Given the description of an element on the screen output the (x, y) to click on. 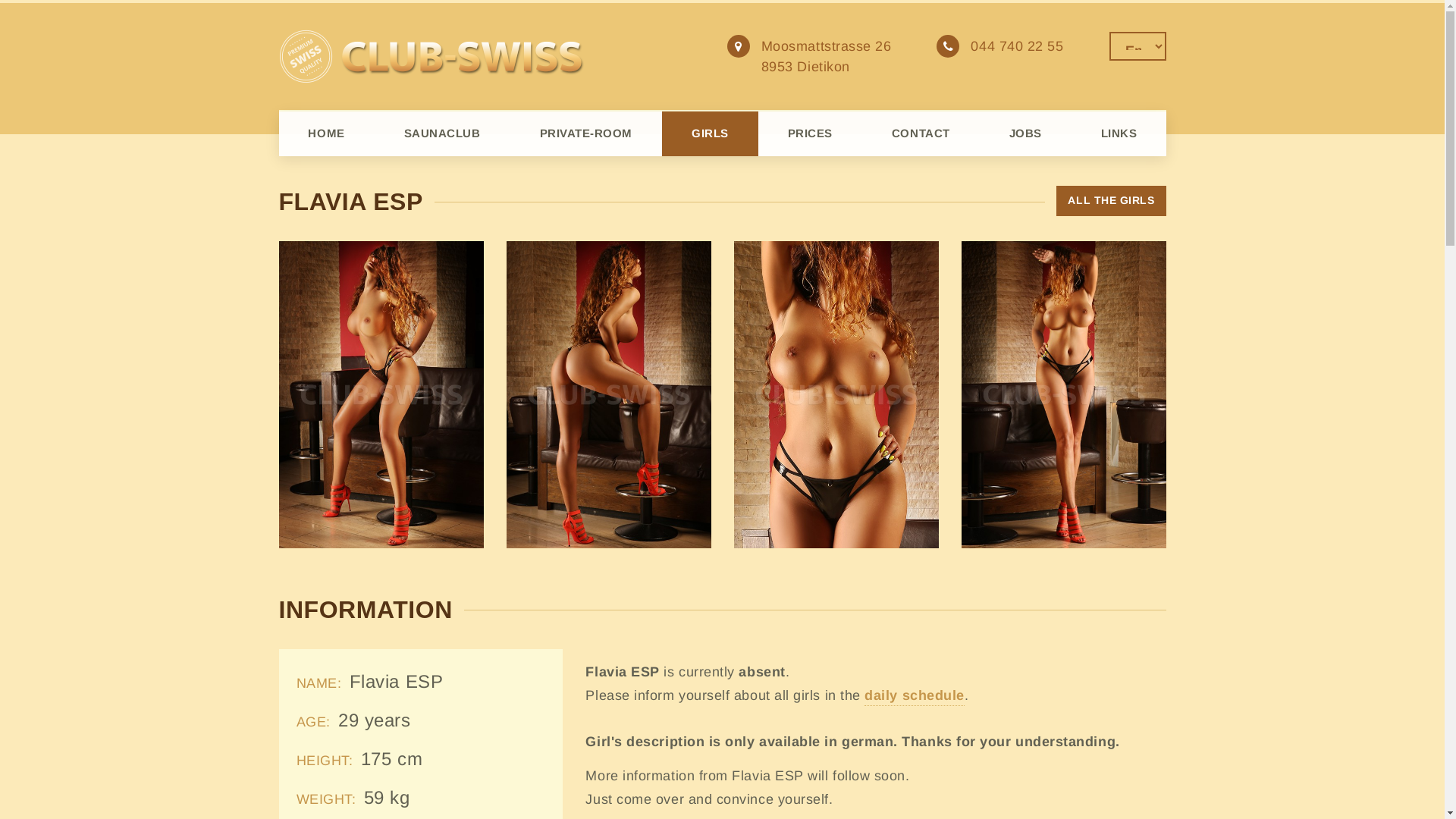
daily schedule Element type: text (914, 696)
PRICES Element type: text (810, 133)
PRIVATE-ROOM Element type: text (586, 133)
GIRLS Element type: text (710, 133)
SAUNACLUB Element type: text (442, 133)
Flavia ESP Element type: hover (1063, 394)
Flavia ESP Element type: hover (836, 394)
Flavia ESP Element type: hover (608, 394)
LINKS Element type: text (1119, 133)
CONTACT Element type: text (920, 133)
HOME Element type: text (326, 133)
ALL THE GIRLS Element type: text (1110, 200)
Flavia ESP Element type: hover (381, 394)
JOBS Element type: text (1025, 133)
